Given the description of an element on the screen output the (x, y) to click on. 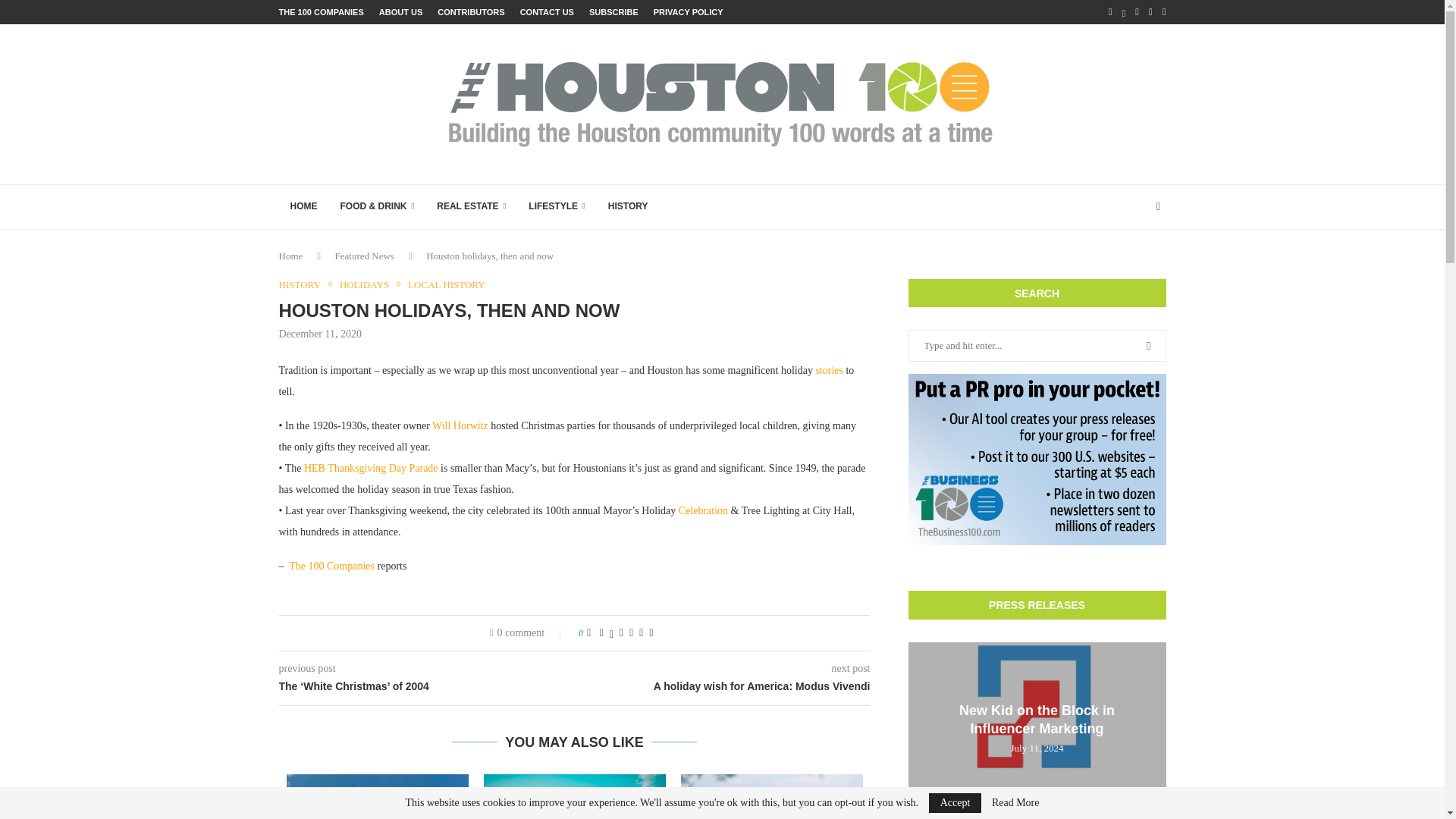
SUBSCRIBE (614, 12)
HOME (304, 207)
REAL ESTATE (470, 207)
CONTRIBUTORS (470, 12)
THE 100 COMPANIES (321, 12)
PRIVACY POLICY (688, 12)
CONTACT US (546, 12)
ABOUT US (400, 12)
